Given the description of an element on the screen output the (x, y) to click on. 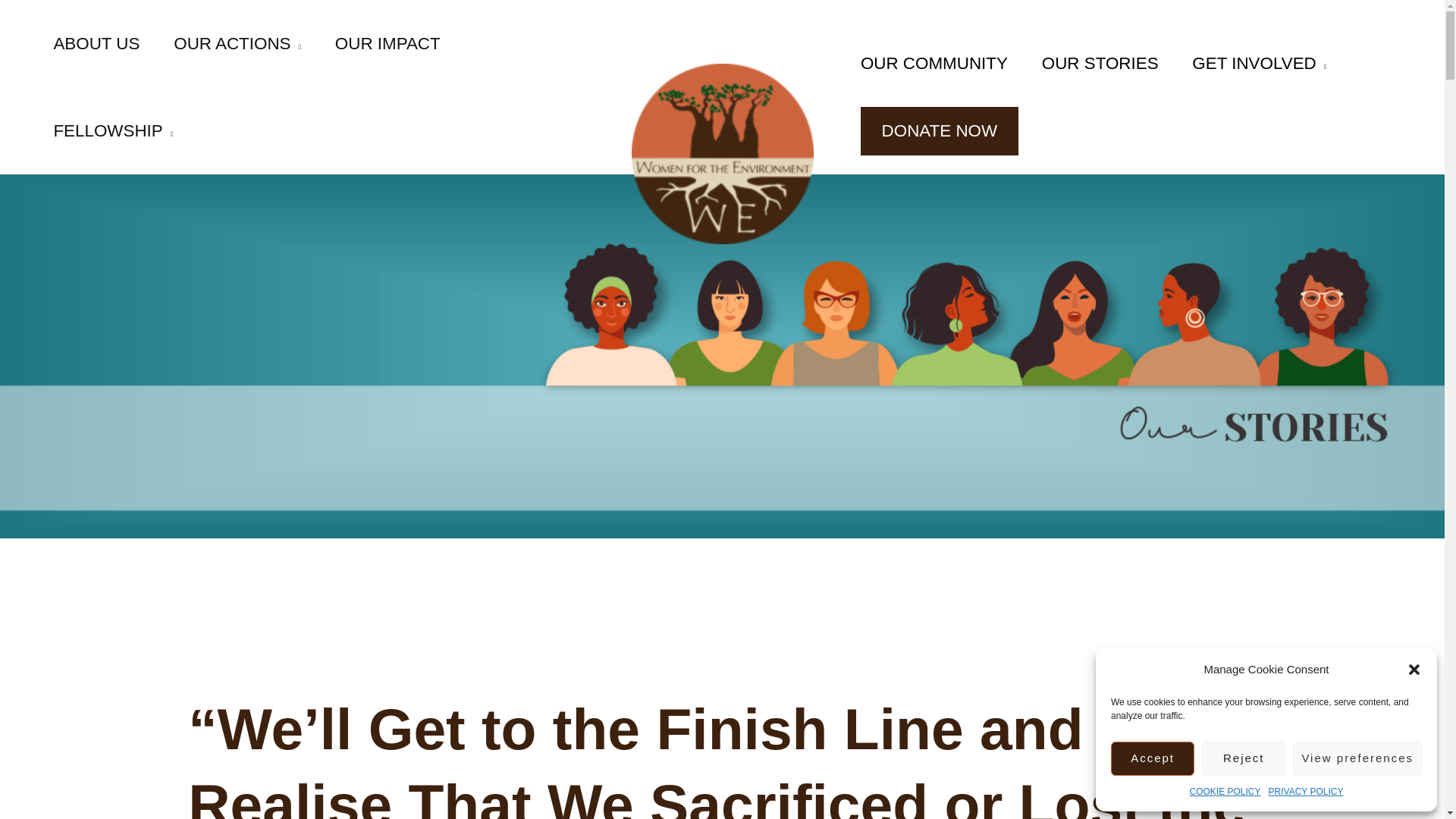
COOKIE POLICY (1224, 791)
ABOUT US (96, 43)
OUR ACTIONS (237, 43)
GET INVOLVED (1258, 63)
Accept (1151, 758)
OUR COMMUNITY (934, 63)
DONATE NOW (939, 130)
View preferences (1357, 758)
PRIVACY POLICY (1305, 791)
Reject (1243, 758)
FELLOWSHIP (113, 130)
OUR IMPACT (387, 43)
OUR STORIES (1099, 63)
